Given the description of an element on the screen output the (x, y) to click on. 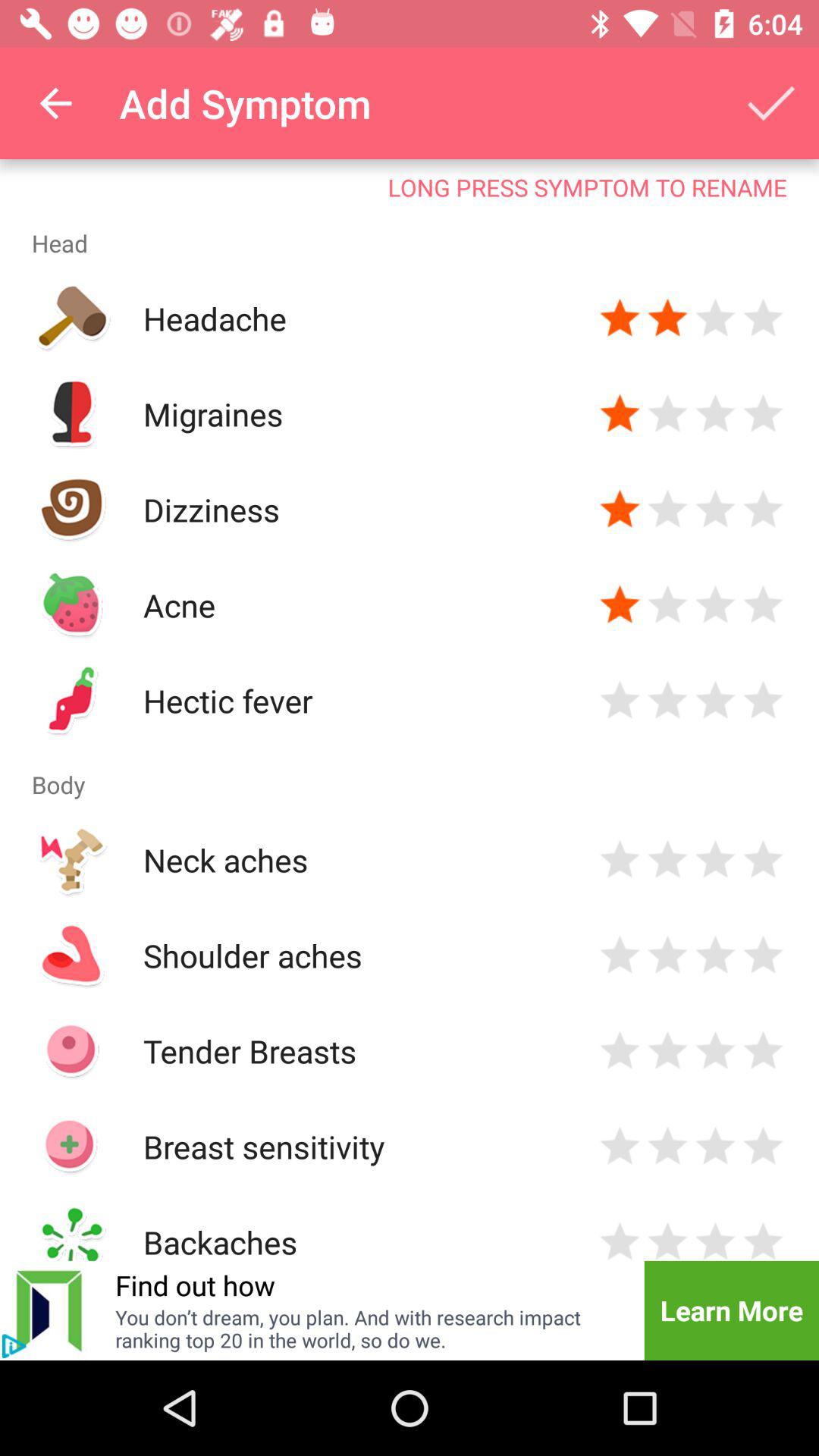
give star rating (763, 318)
